Given the description of an element on the screen output the (x, y) to click on. 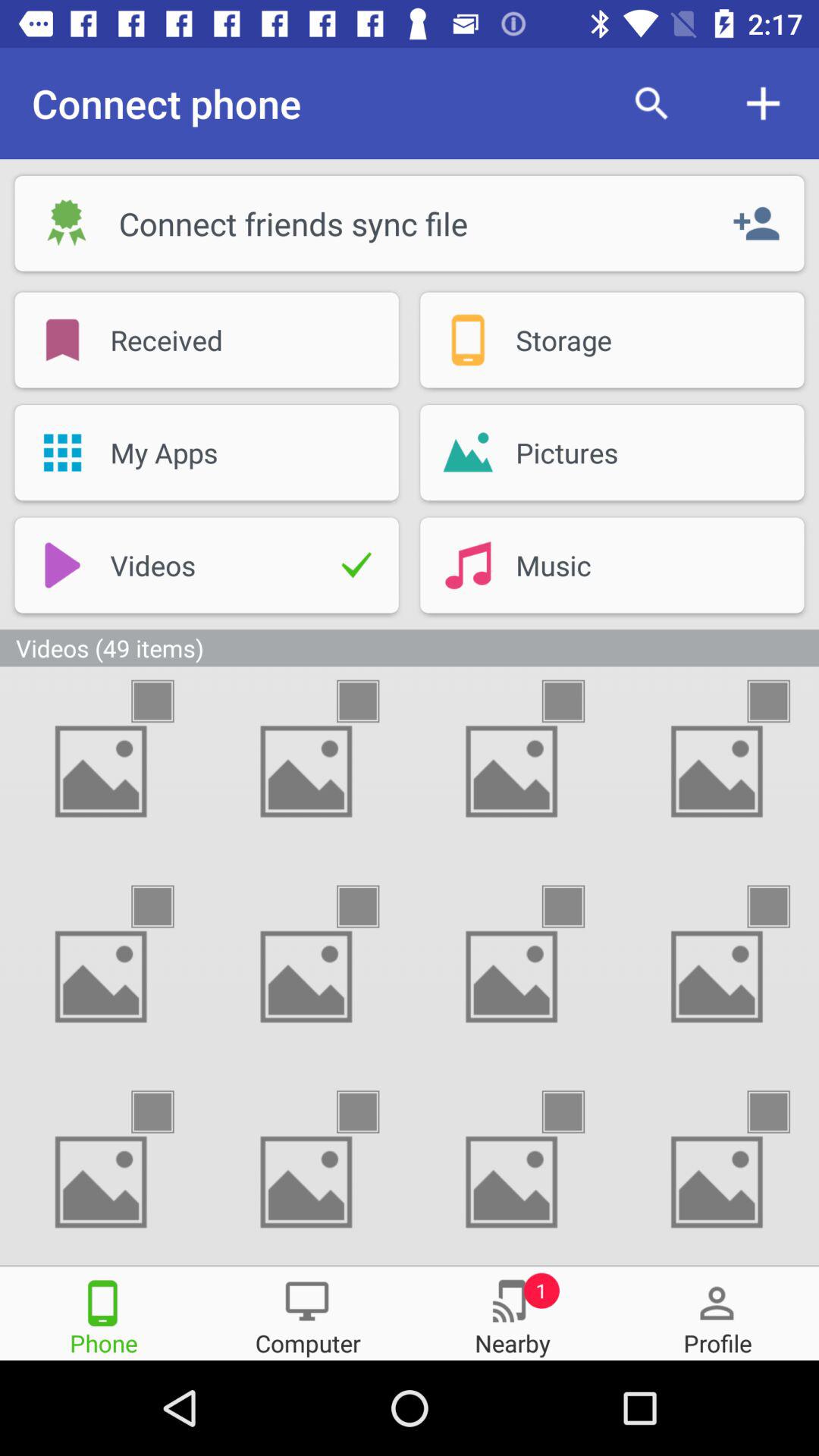
select this video (576, 1111)
